Given the description of an element on the screen output the (x, y) to click on. 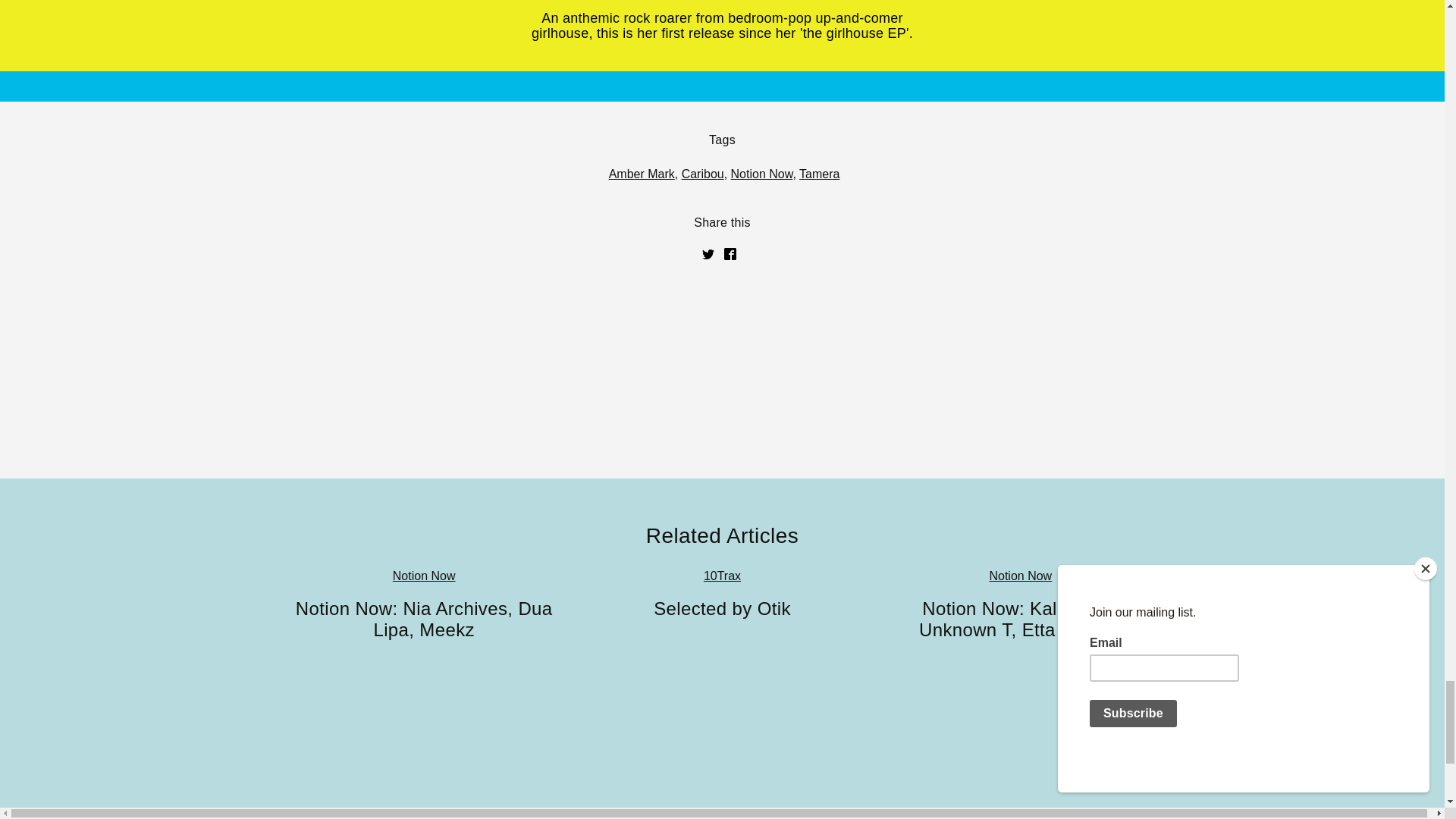
Share on Facebook (729, 254)
Share on Twitter (707, 254)
